Given the description of an element on the screen output the (x, y) to click on. 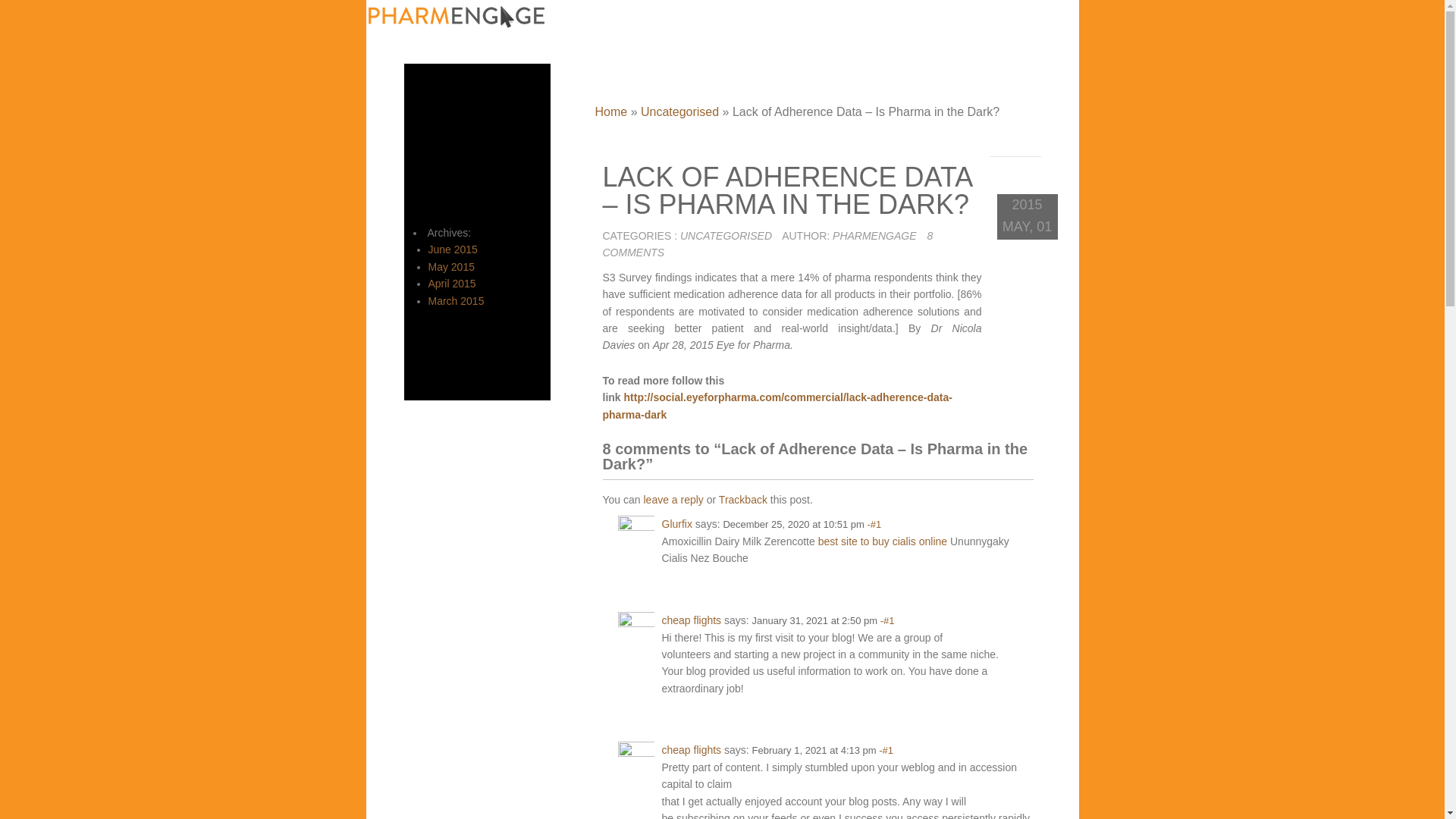
Reply (1017, 619)
best site to buy cialis online (882, 541)
leave a reply (673, 499)
PHARMENGAGE (873, 235)
Reply (1017, 522)
8 COMMENTS (767, 244)
Trackback (743, 499)
UNCATEGORISED (725, 235)
Reply (1017, 749)
January 31, 2021 at 2:50 pm (814, 620)
